Given the description of an element on the screen output the (x, y) to click on. 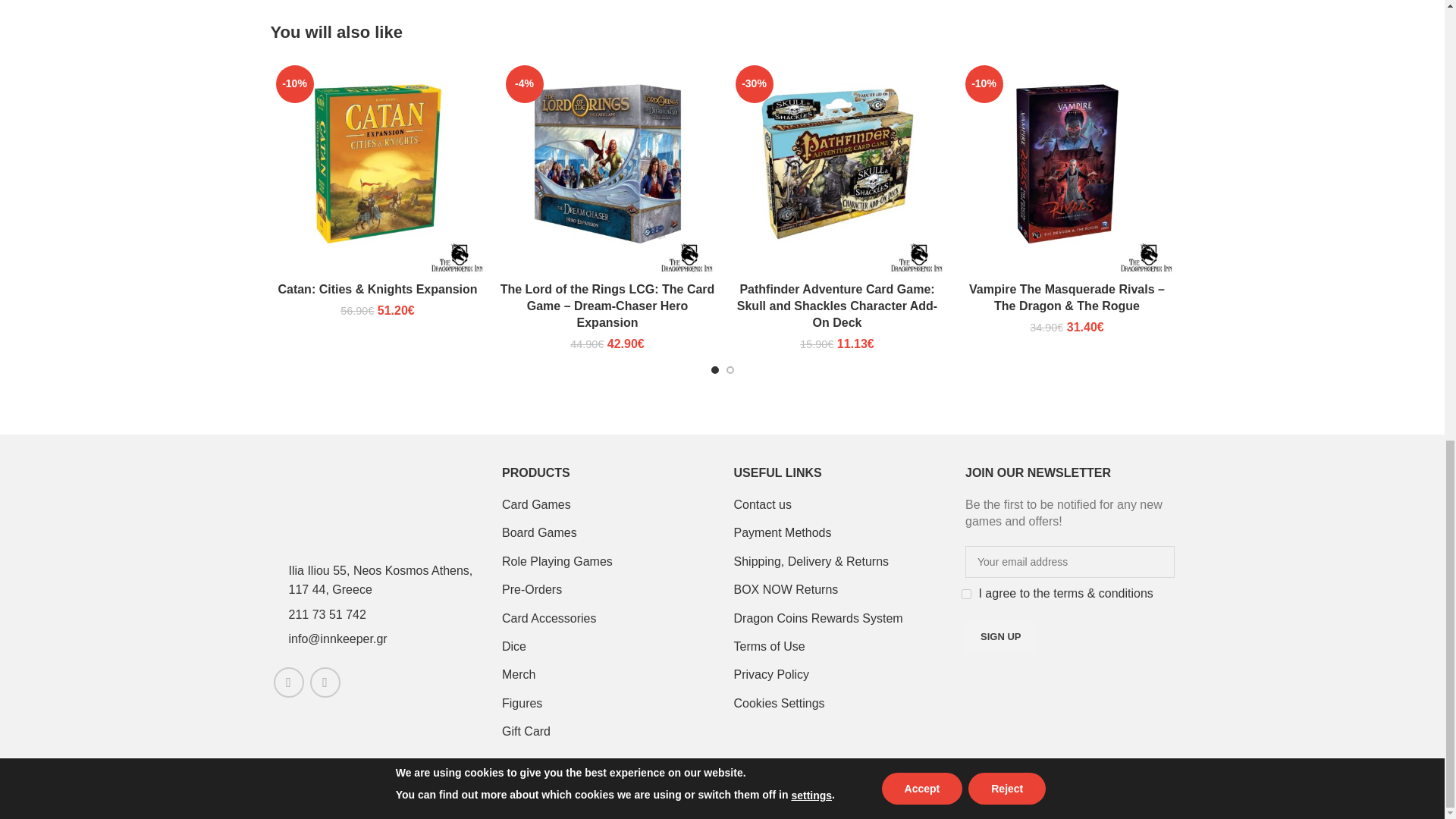
wd-cursor-dark (275, 579)
1 (965, 593)
Sign up (1000, 636)
